Given the description of an element on the screen output the (x, y) to click on. 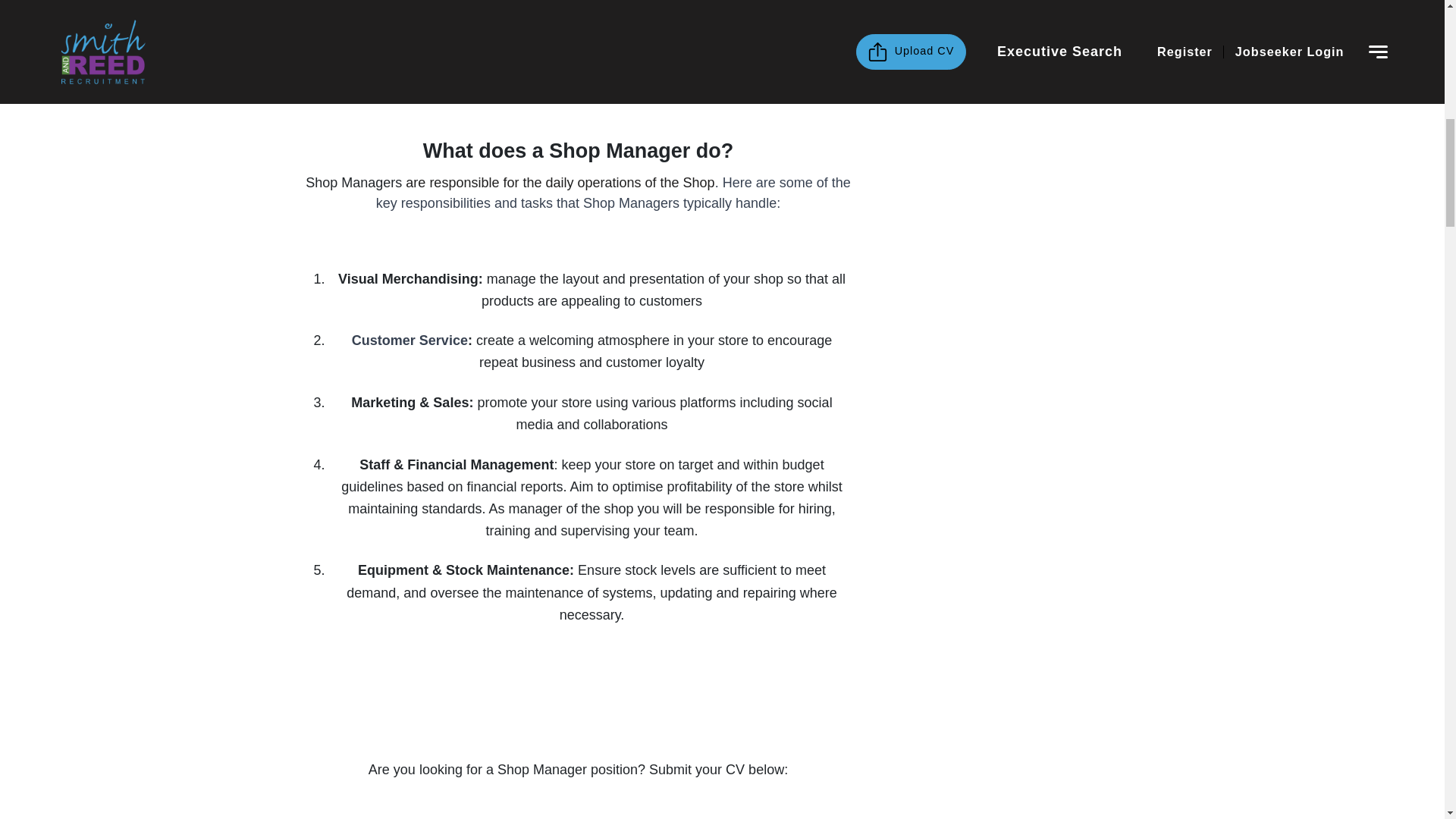
Hire Executives (577, 68)
